Given the description of an element on the screen output the (x, y) to click on. 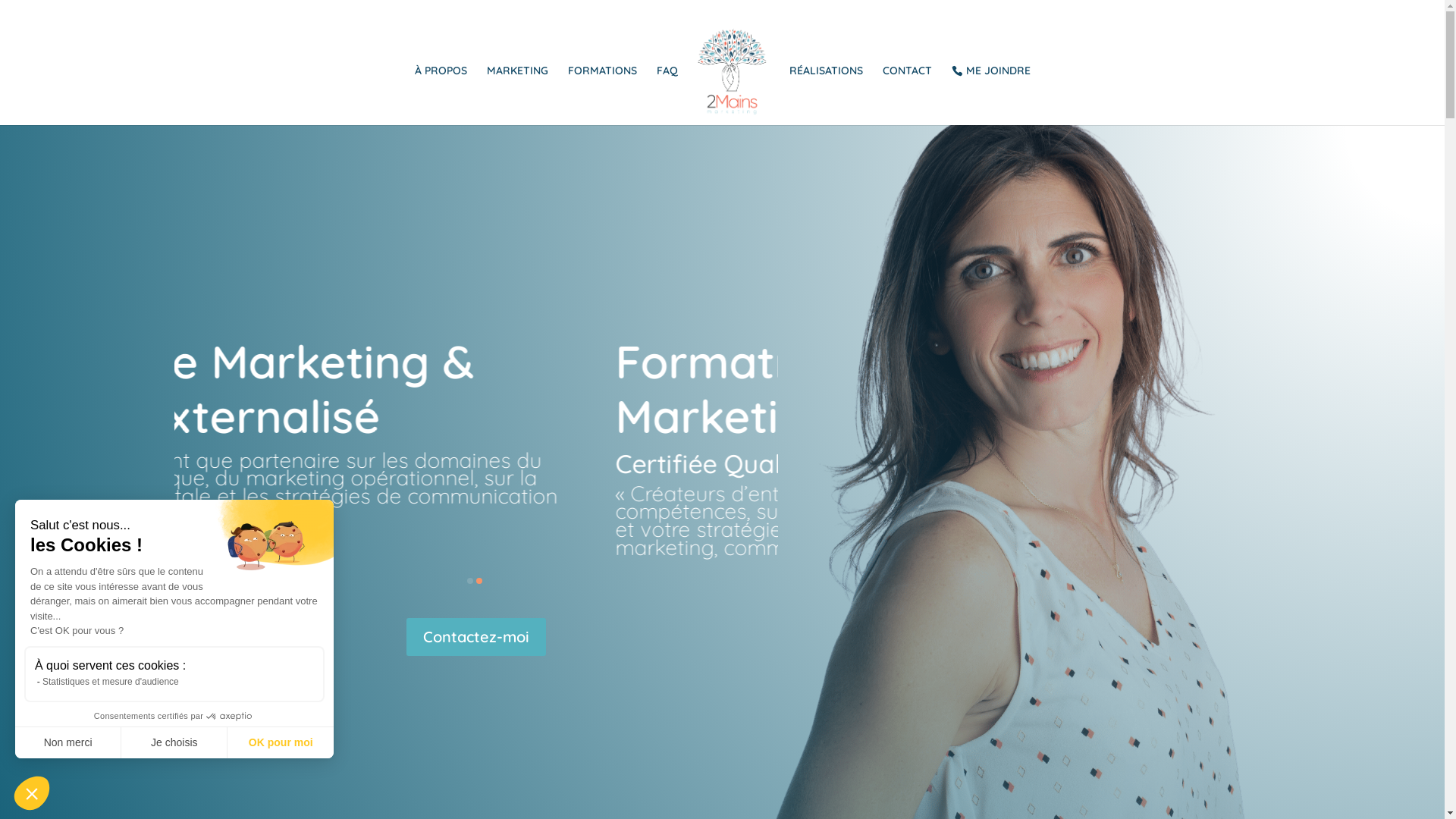
Contactez-moi Element type: text (476, 636)
FAQ Element type: text (666, 95)
ME JOINDRE Element type: text (989, 94)
CONTACT Element type: text (906, 95)
FORMATIONS Element type: text (601, 95)
MARKETING Element type: text (517, 95)
